Given the description of an element on the screen output the (x, y) to click on. 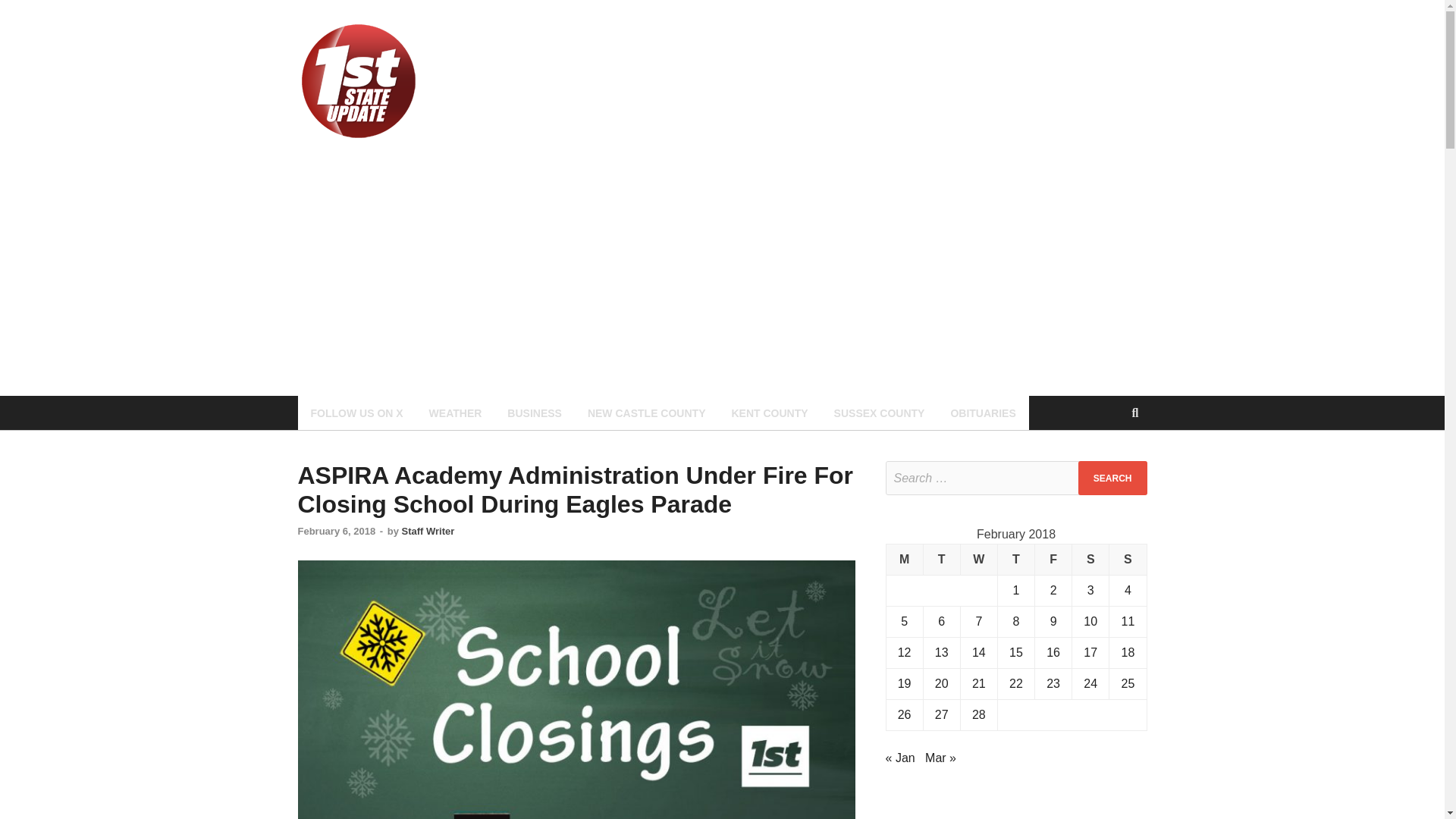
Wednesday (978, 559)
NEW CASTLE COUNTY (647, 412)
Search (1112, 478)
First State Update (545, 51)
SUSSEX COUNTY (879, 412)
Monday (904, 559)
11 (1127, 621)
Tuesday (941, 559)
KENT COUNTY (769, 412)
Sunday (1128, 559)
10 (1090, 621)
Staff Writer (427, 531)
13 (941, 652)
Friday (1053, 559)
WEATHER (455, 412)
